Given the description of an element on the screen output the (x, y) to click on. 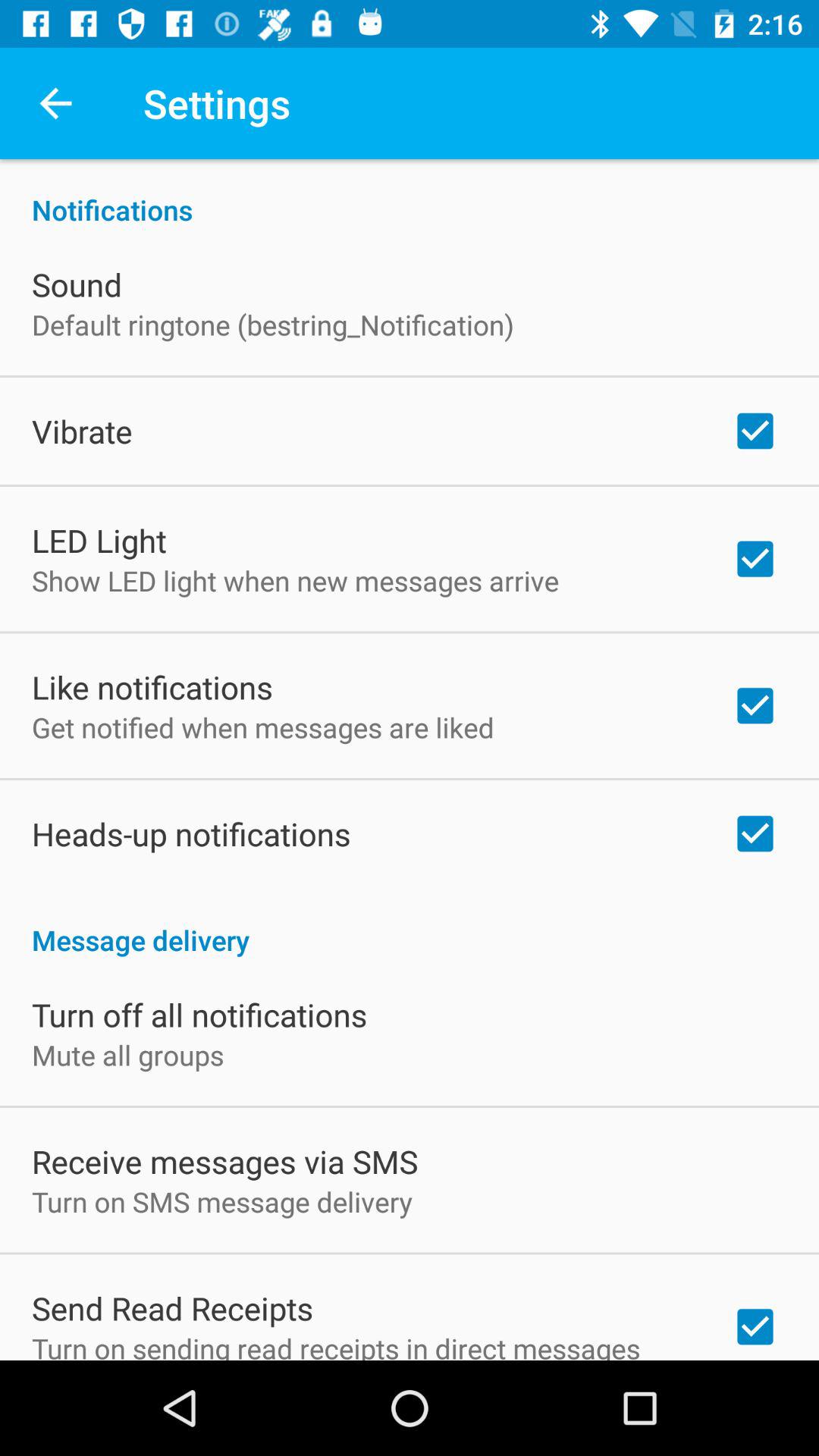
turn off item below mute all groups item (224, 1161)
